Given the description of an element on the screen output the (x, y) to click on. 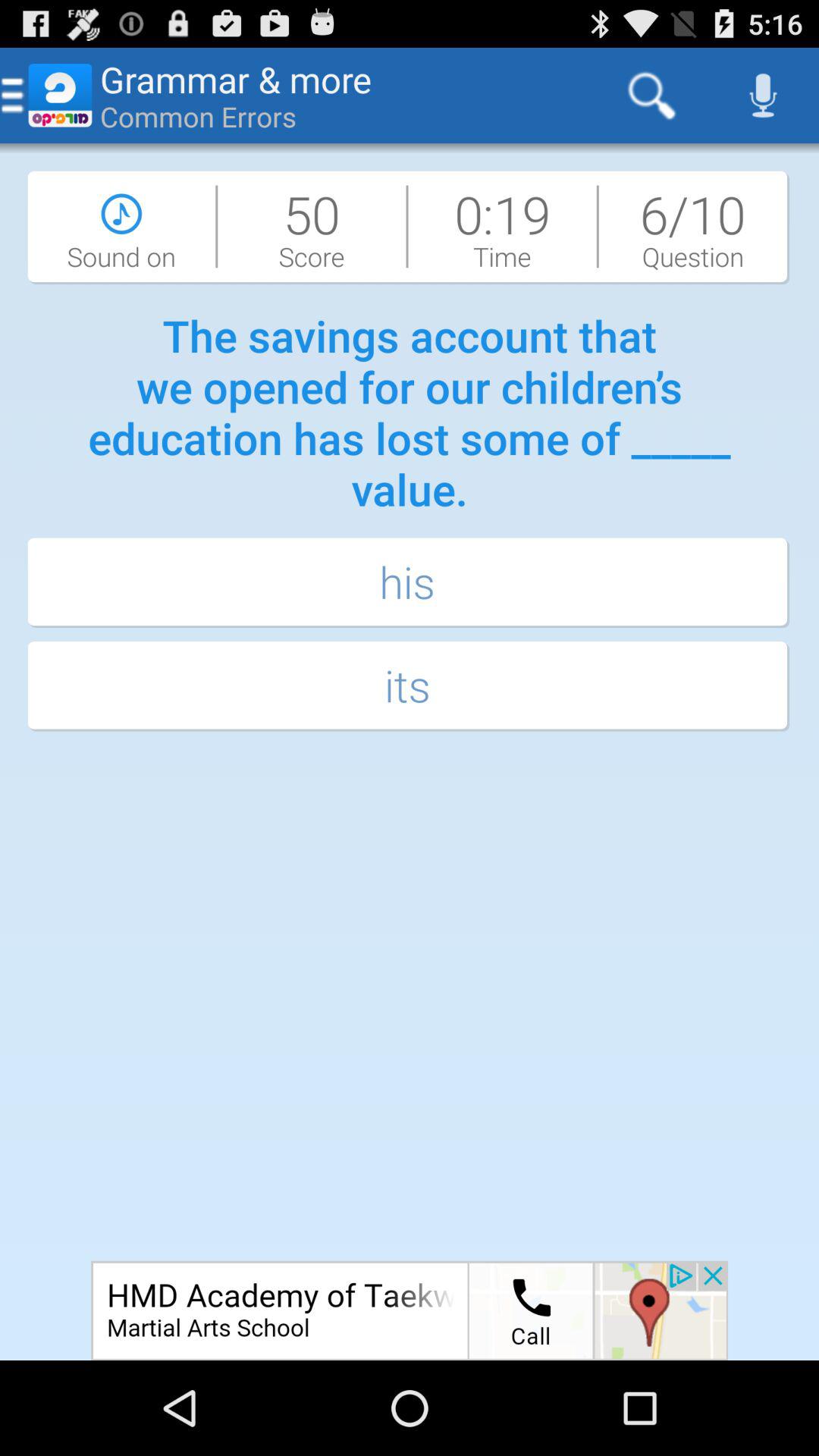
visit advertisement (409, 1310)
